Given the description of an element on the screen output the (x, y) to click on. 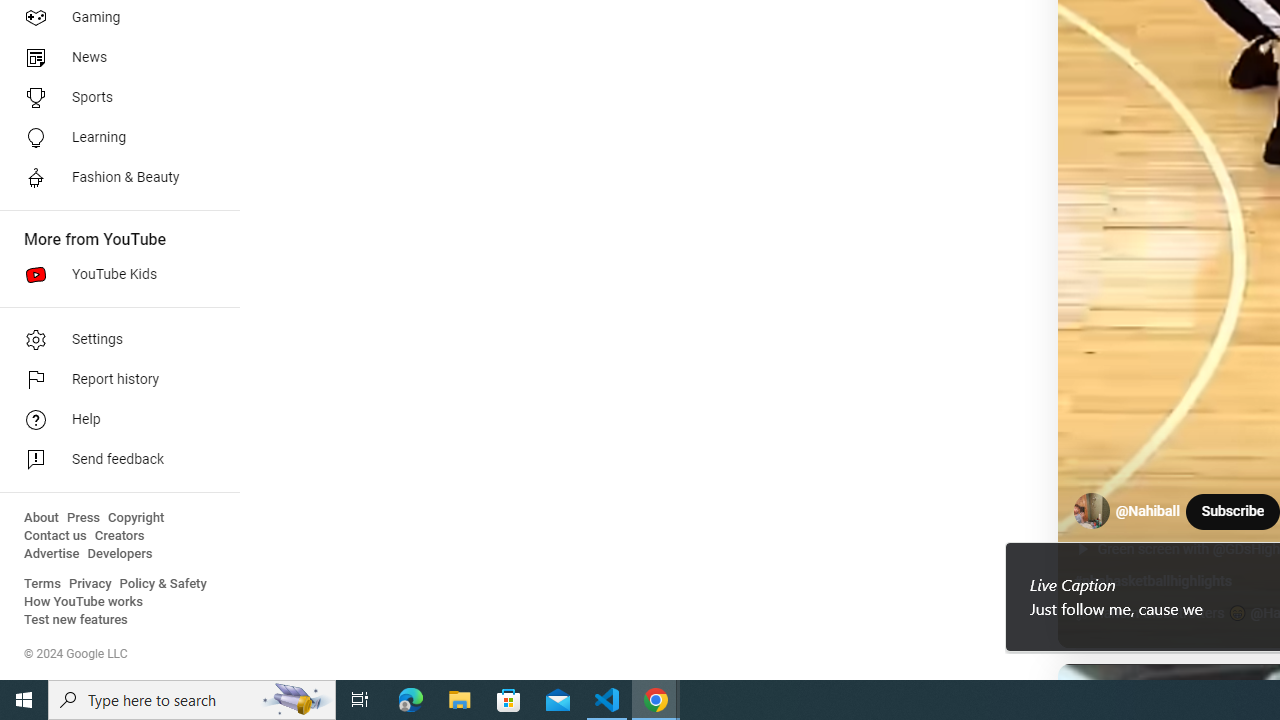
Send feedback (113, 459)
Sports (113, 97)
YouTube Kids (113, 274)
Test new features (76, 620)
Policy & Safety (163, 584)
music icon (1081, 614)
About (41, 518)
Advertise (51, 554)
Copyright (136, 518)
Creators (118, 536)
Fashion & Beauty (113, 177)
News (113, 57)
